Given the description of an element on the screen output the (x, y) to click on. 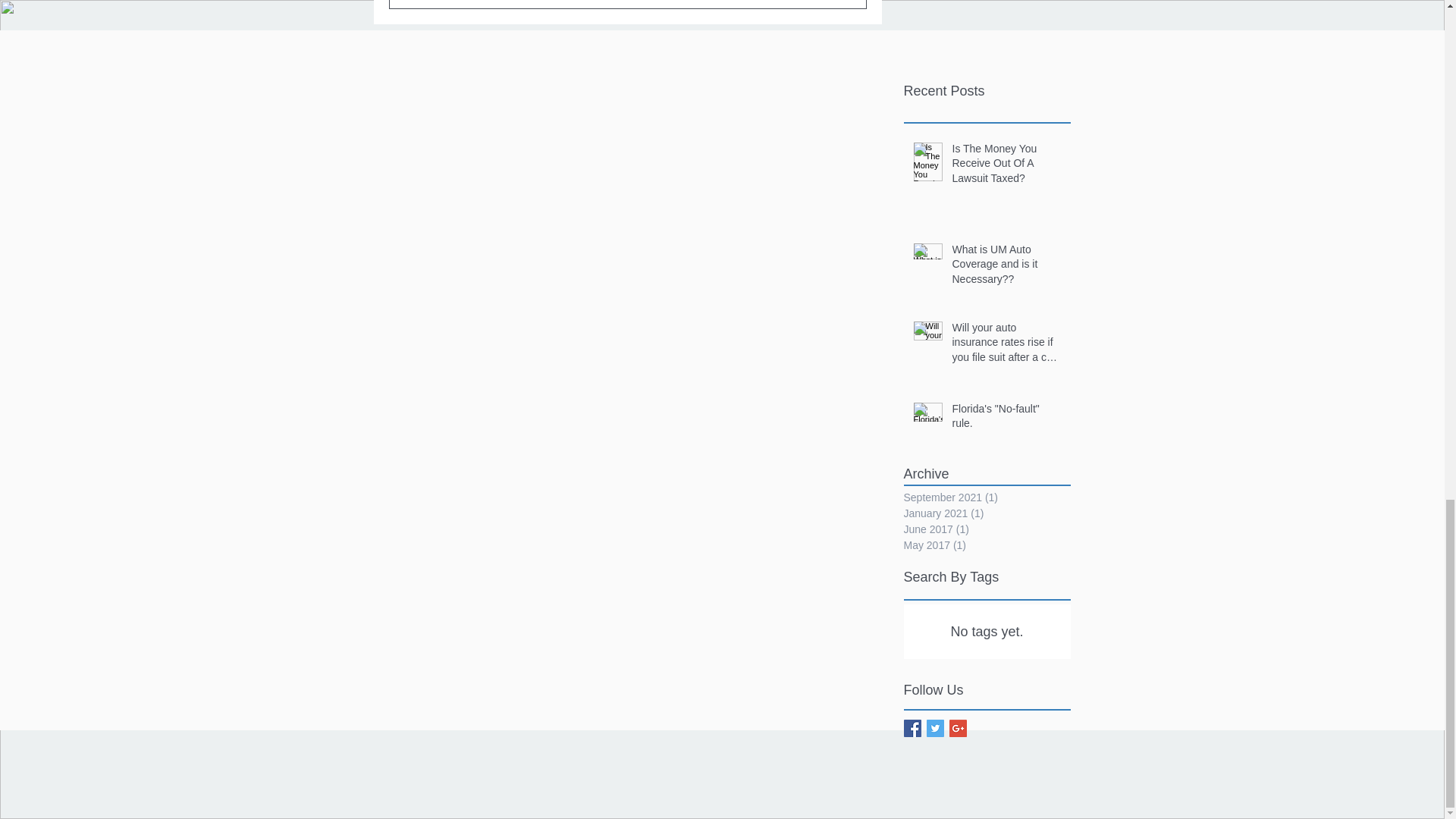
Is The Money You Receive Out Of A Lawsuit Taxed? (1006, 166)
Florida's "No-fault" rule. (1006, 419)
What is UM Auto Coverage and is it Necessary?? (1006, 267)
